Given the description of an element on the screen output the (x, y) to click on. 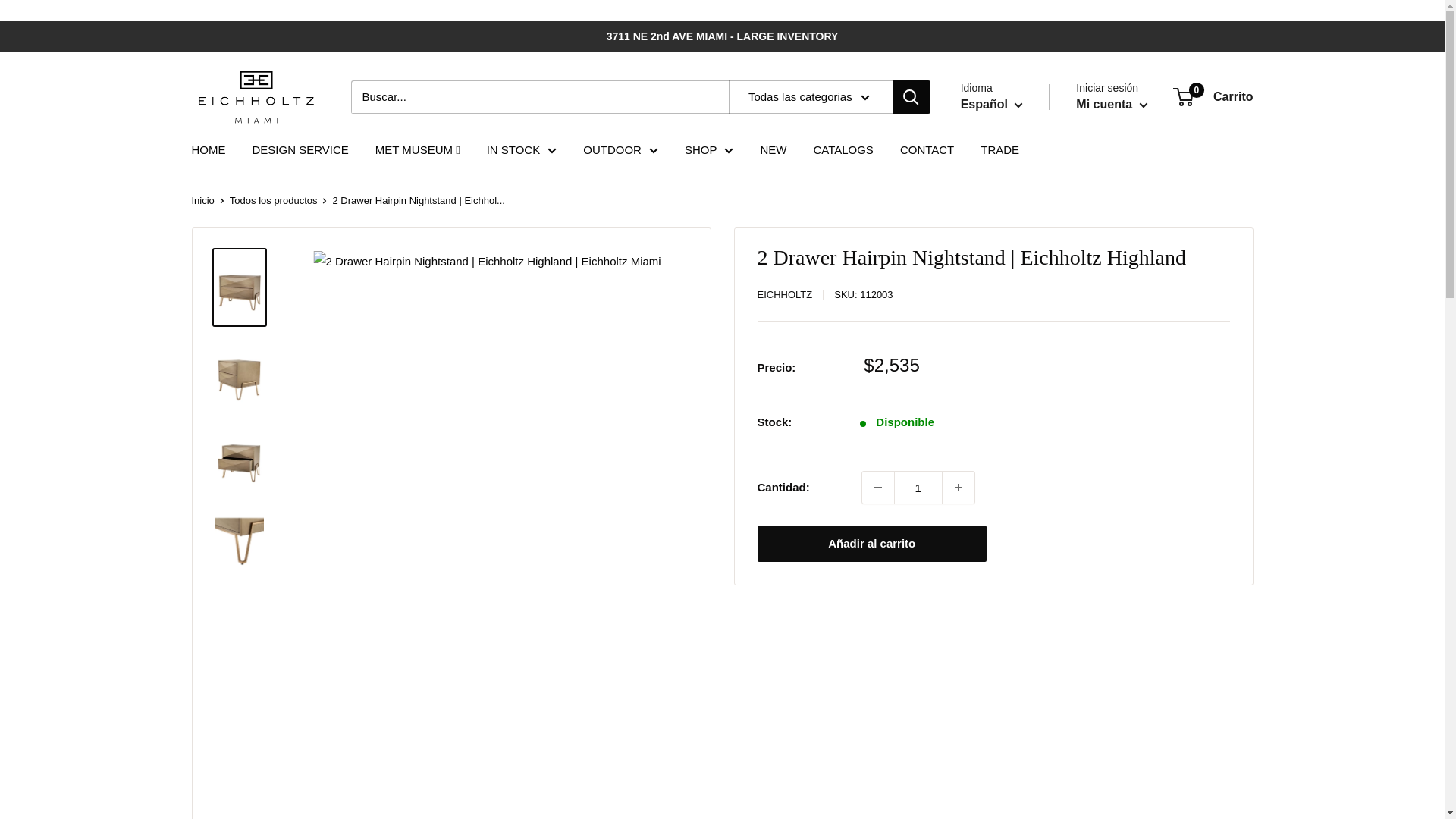
Disminuir la cantidad en 1 (877, 487)
Aumentar la cantidad en 1 (958, 487)
1 (917, 487)
